Given the description of an element on the screen output the (x, y) to click on. 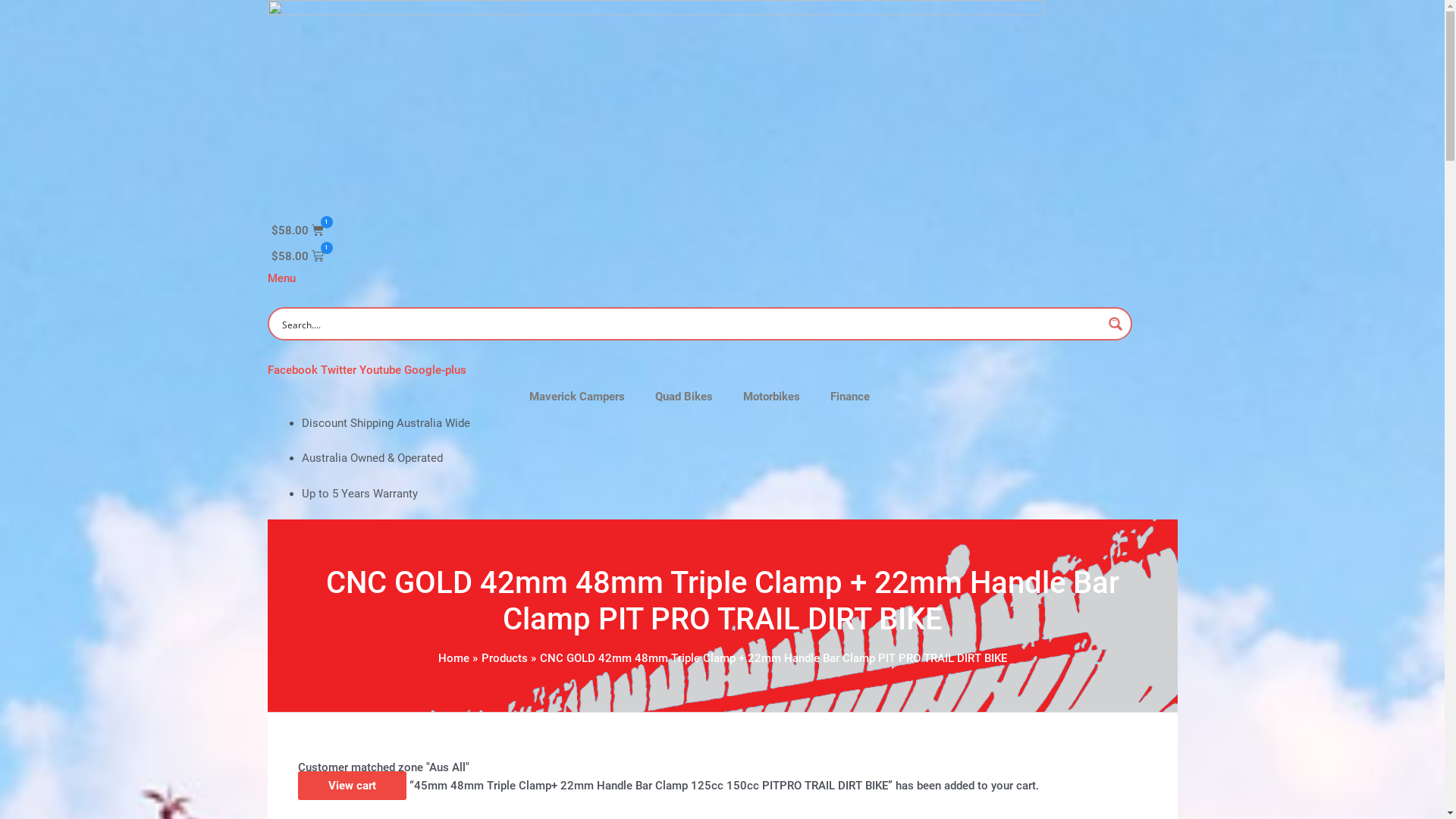
Twitter Element type: text (339, 369)
Motorbikes Element type: text (771, 396)
Maverick Campers Element type: text (577, 396)
Facebook Element type: text (293, 369)
Home Element type: text (453, 658)
$58.00
1 Element type: text (296, 256)
Google-plus Element type: text (434, 369)
View cart Element type: text (351, 785)
Finance Element type: text (849, 396)
Menu Element type: text (280, 278)
$58.00
1 Element type: text (296, 230)
Quad Bikes Element type: text (684, 396)
Youtube Element type: text (381, 369)
Products Element type: text (503, 658)
